Given the description of an element on the screen output the (x, y) to click on. 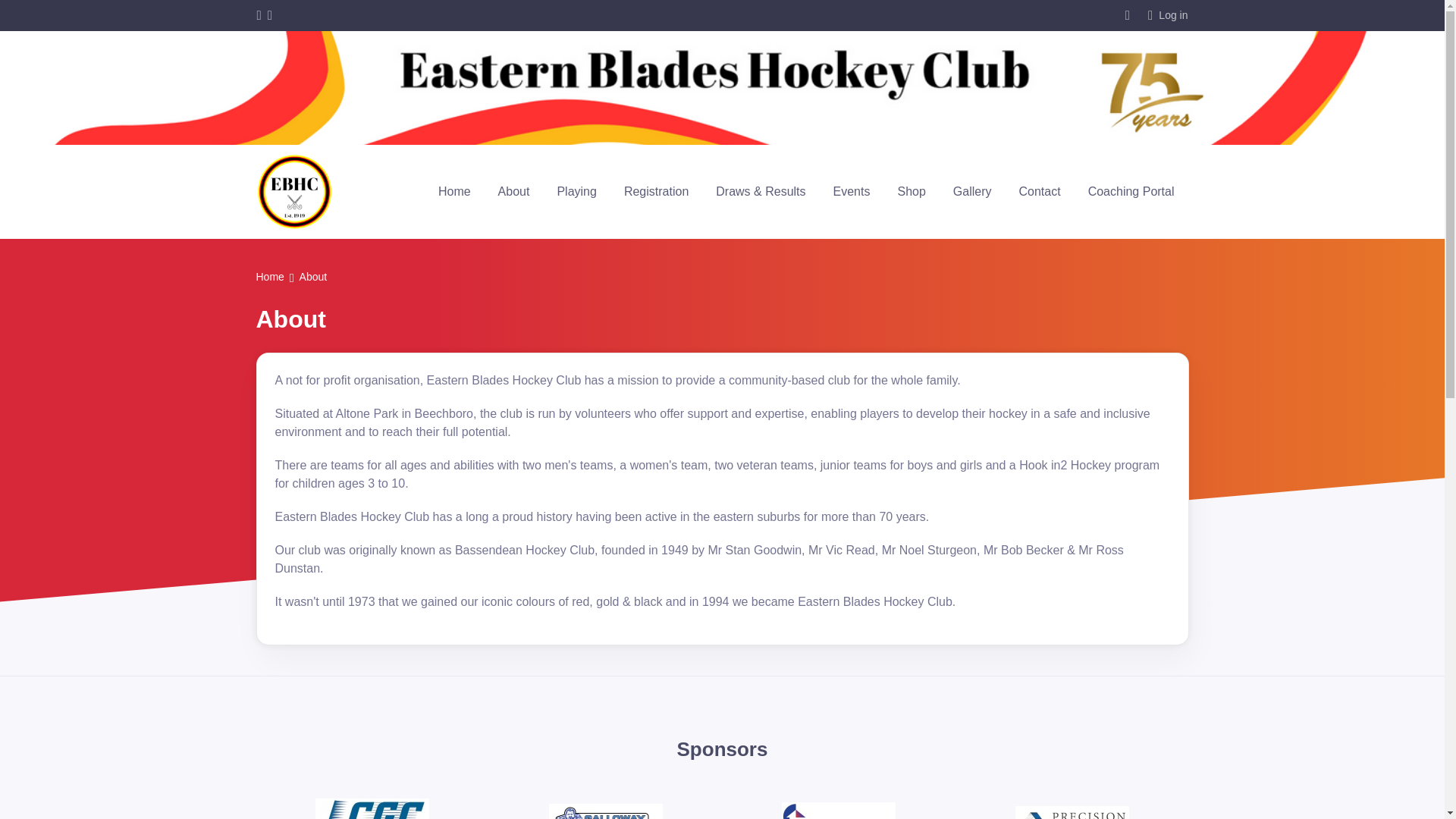
Events (851, 191)
Better Choice (838, 810)
Log in (1168, 15)
Precision Elevator Removals (1071, 812)
Playing (576, 191)
Shop (911, 191)
Home (269, 278)
CGC Engineering (372, 808)
Home (454, 191)
About (513, 191)
Gallery (972, 191)
Registration (655, 191)
Contact (1040, 191)
Galloway Electrical Contractors (605, 811)
Coaching Portal (1131, 191)
